Given the description of an element on the screen output the (x, y) to click on. 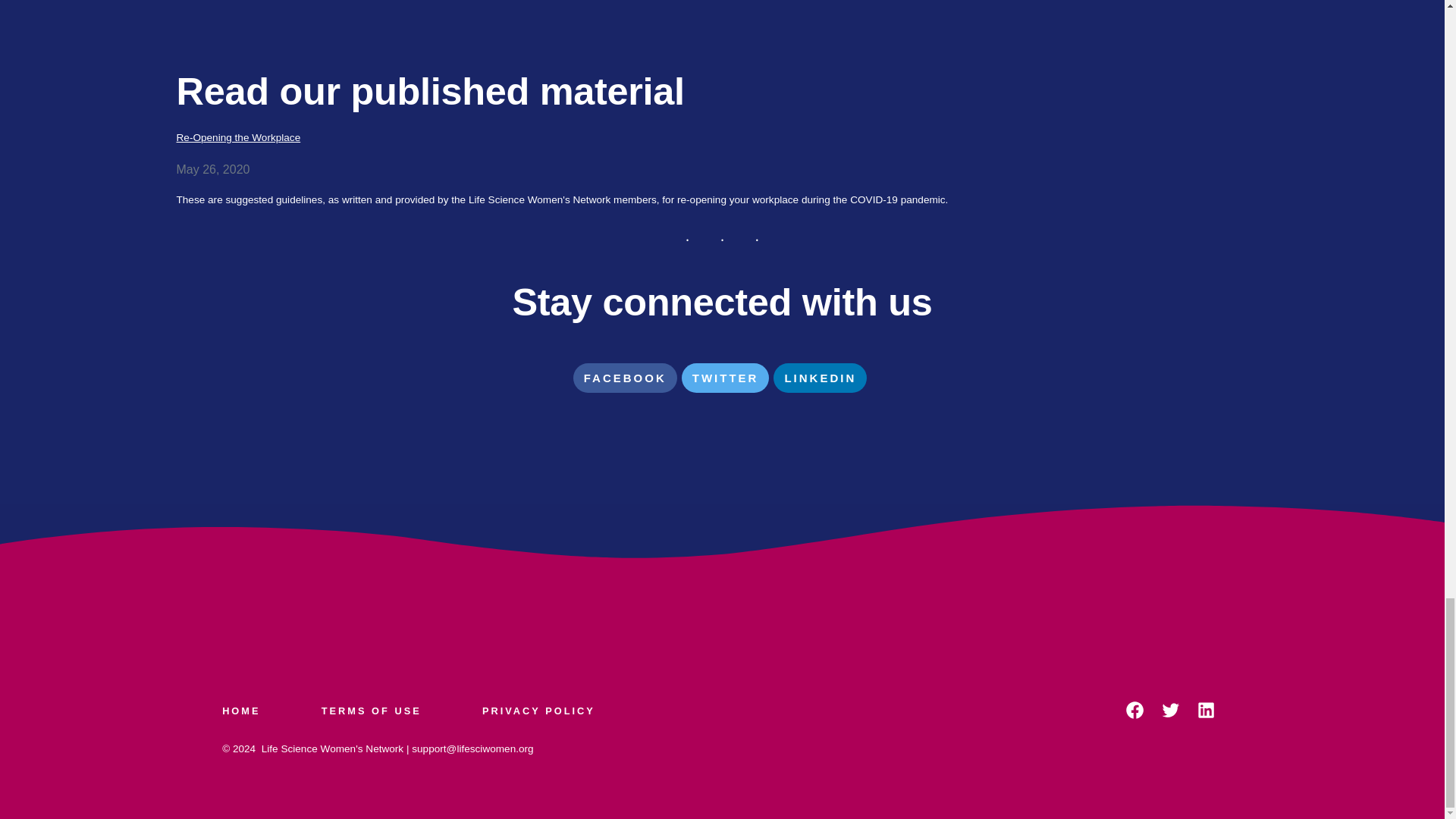
TWITTER (725, 378)
TERMS OF USE (370, 711)
Linkedin (819, 378)
Re-Opening the Workplace (722, 137)
Twitter (725, 378)
HOME (255, 711)
Facebook (625, 378)
LINKEDIN (819, 378)
FACEBOOK (625, 378)
